Given the description of an element on the screen output the (x, y) to click on. 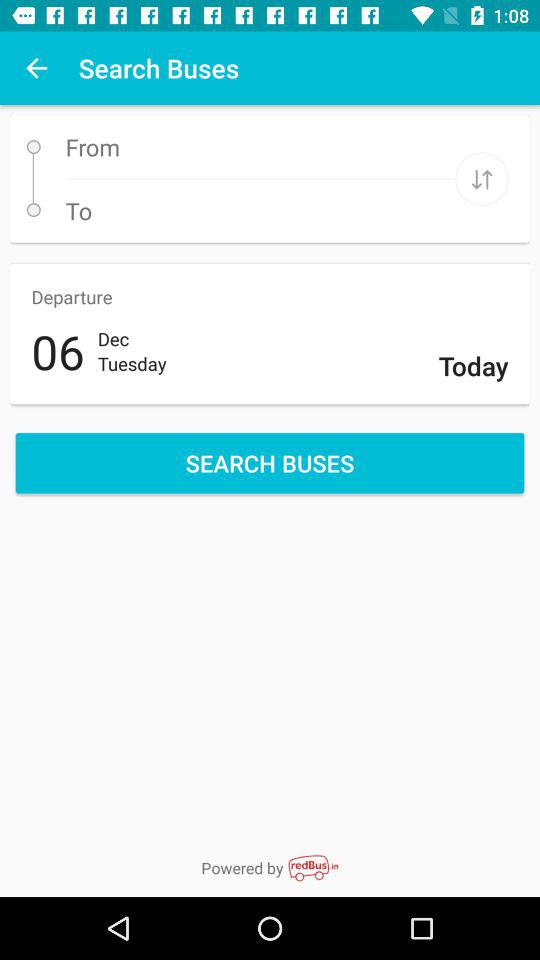
toggle destination (481, 178)
